Given the description of an element on the screen output the (x, y) to click on. 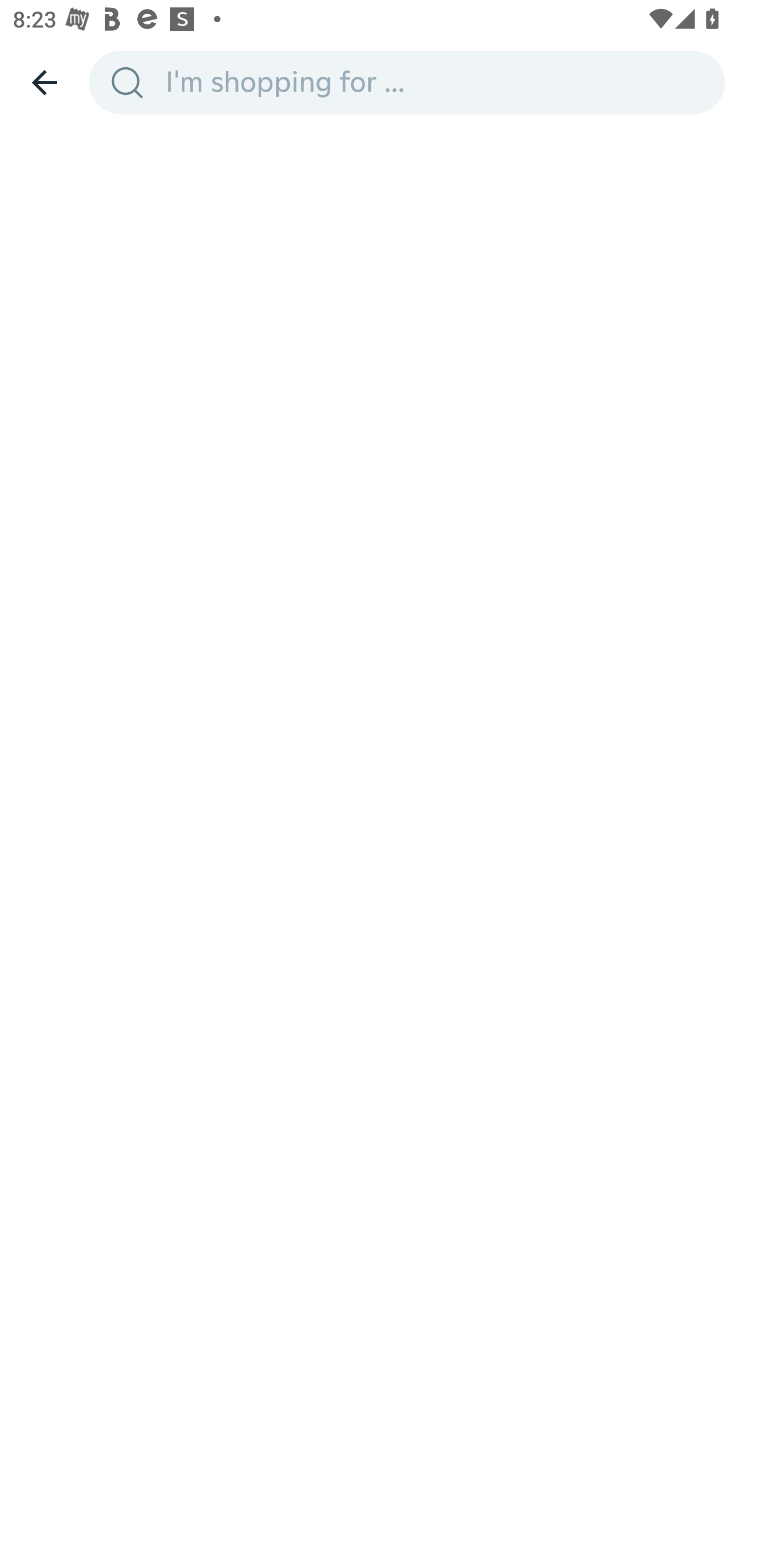
Navigate up (44, 82)
I'm shopping for ... (438, 81)
